Given the description of an element on the screen output the (x, y) to click on. 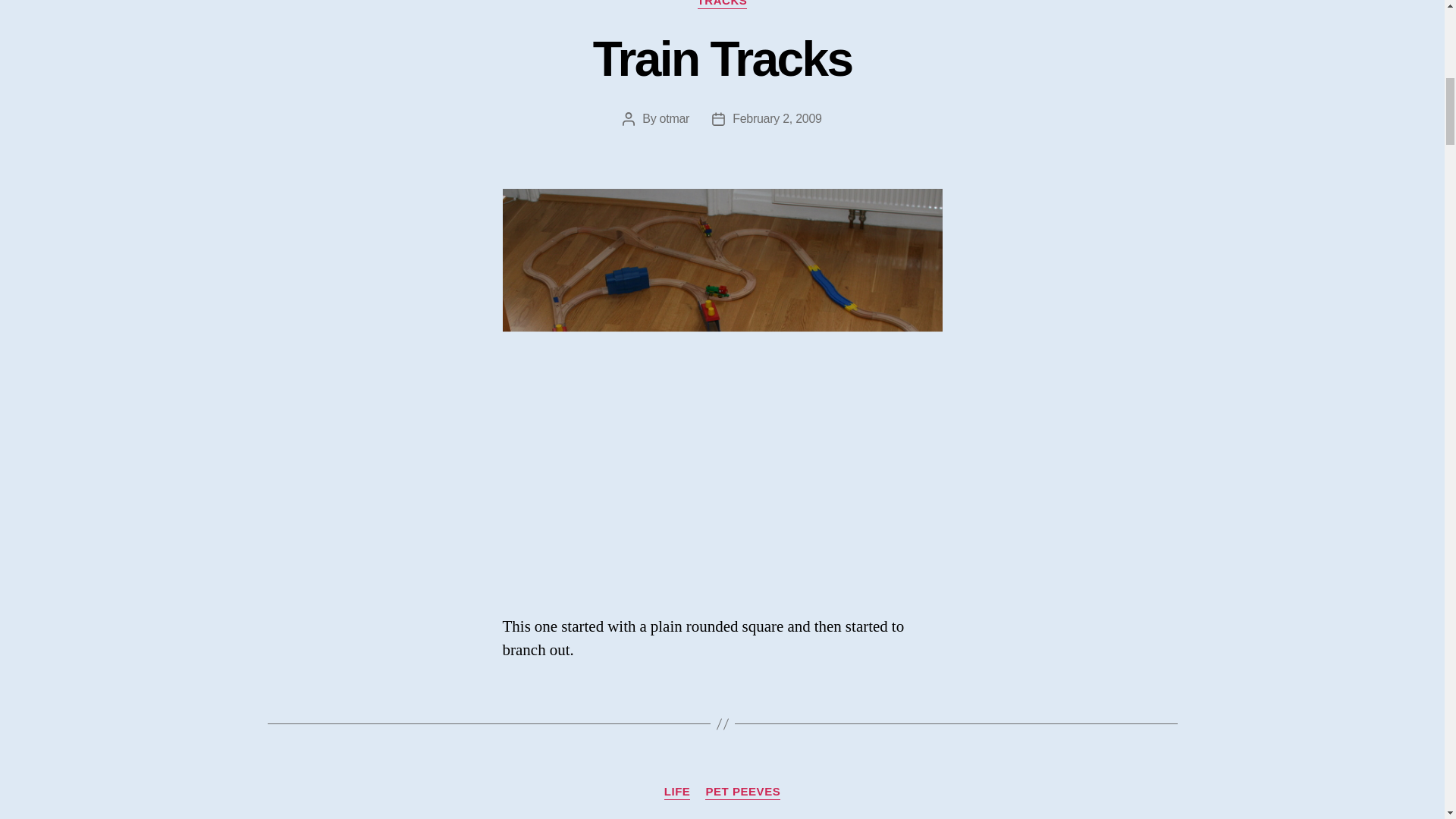
PET PEEVES (742, 792)
TRACKS (722, 4)
February 2, 2009 (777, 118)
Train Tracks (721, 58)
LIFE (676, 792)
otmar (674, 118)
